Given the description of an element on the screen output the (x, y) to click on. 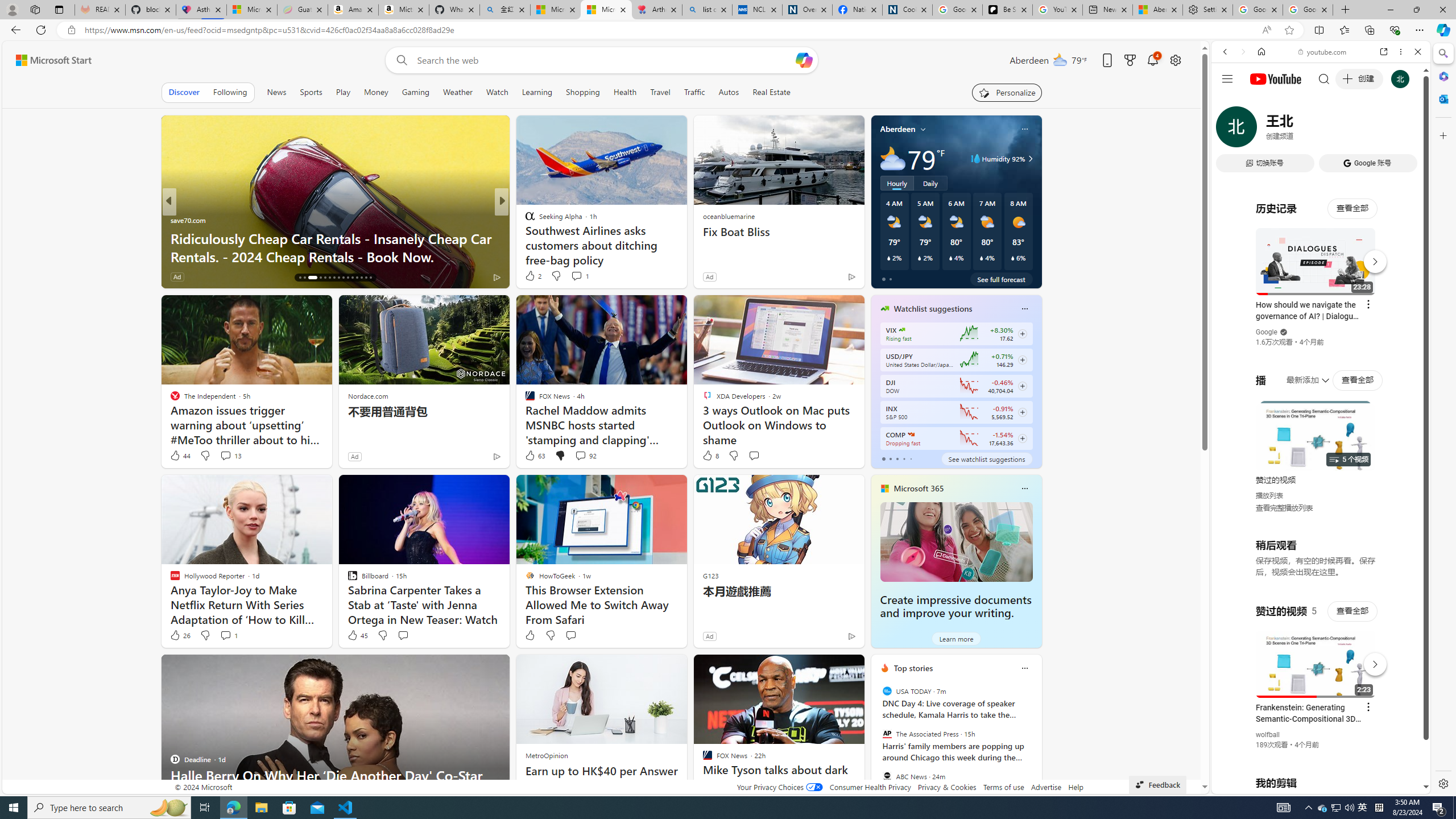
previous (876, 741)
Hide this story (830, 668)
View comments 7 Comment (580, 276)
Open Copilot (803, 59)
8 Like (710, 455)
Search videos from youtube.com (1299, 373)
Learning (536, 92)
Autos (729, 92)
Mostly cloudy (892, 158)
Fix Boat Bliss (778, 232)
